Given the description of an element on the screen output the (x, y) to click on. 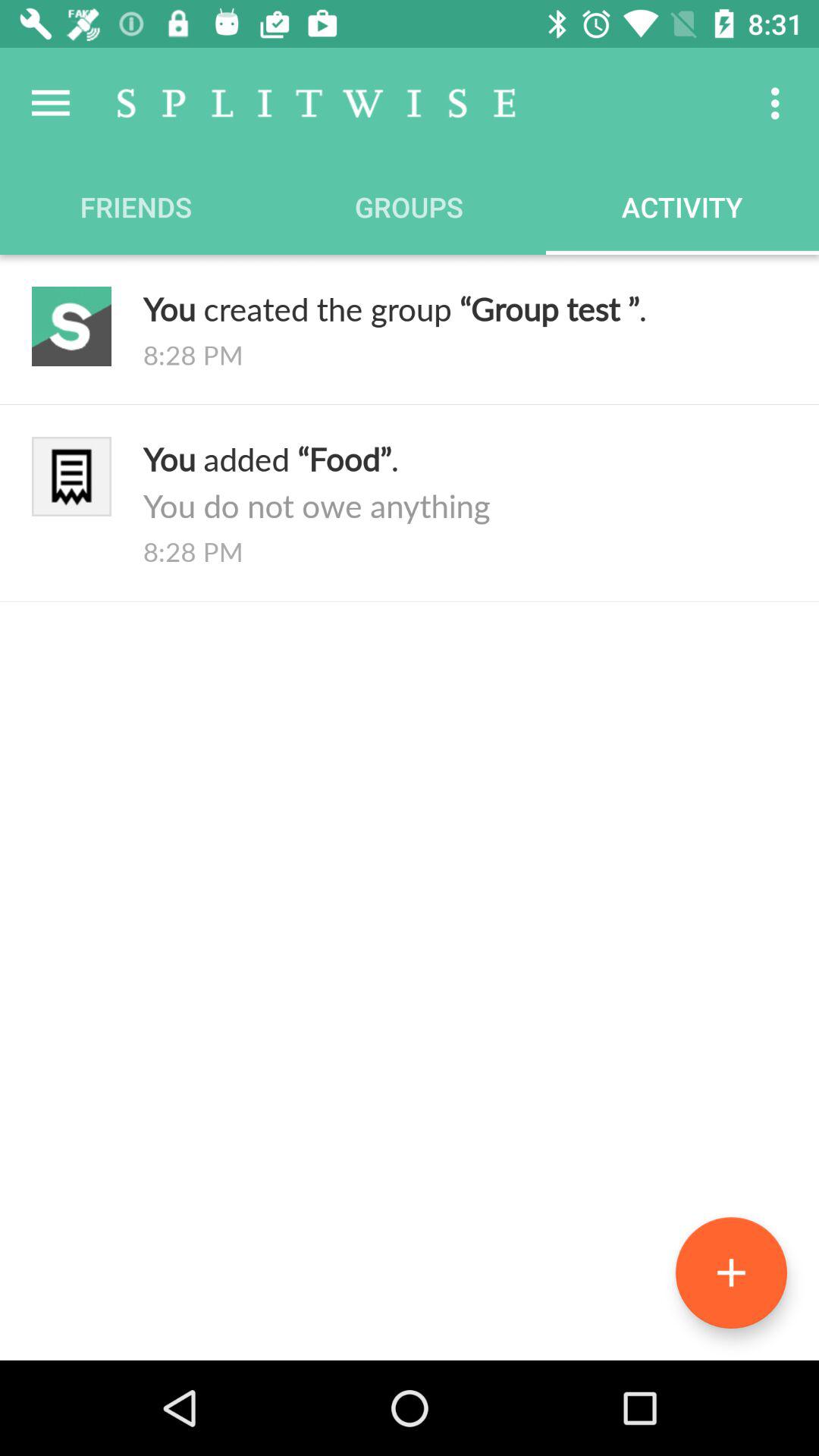
tap icon below the 8:28 pm (731, 1272)
